Given the description of an element on the screen output the (x, y) to click on. 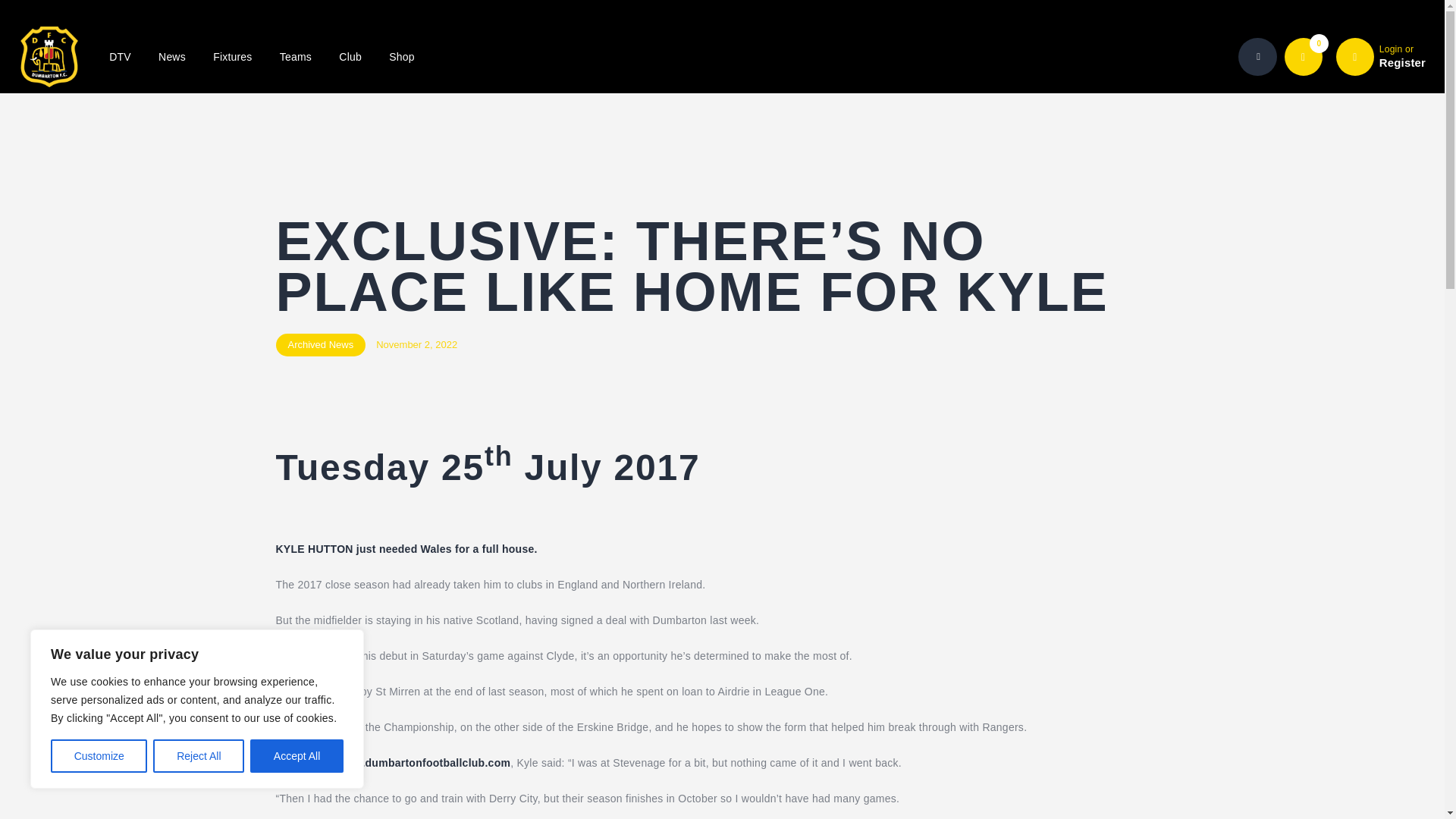
News (171, 57)
Customize (98, 756)
Accept All (296, 756)
Club (349, 57)
Fixtures (232, 57)
Shop (401, 57)
Reject All (1380, 56)
Teams (198, 756)
DTV (296, 57)
